Given the description of an element on the screen output the (x, y) to click on. 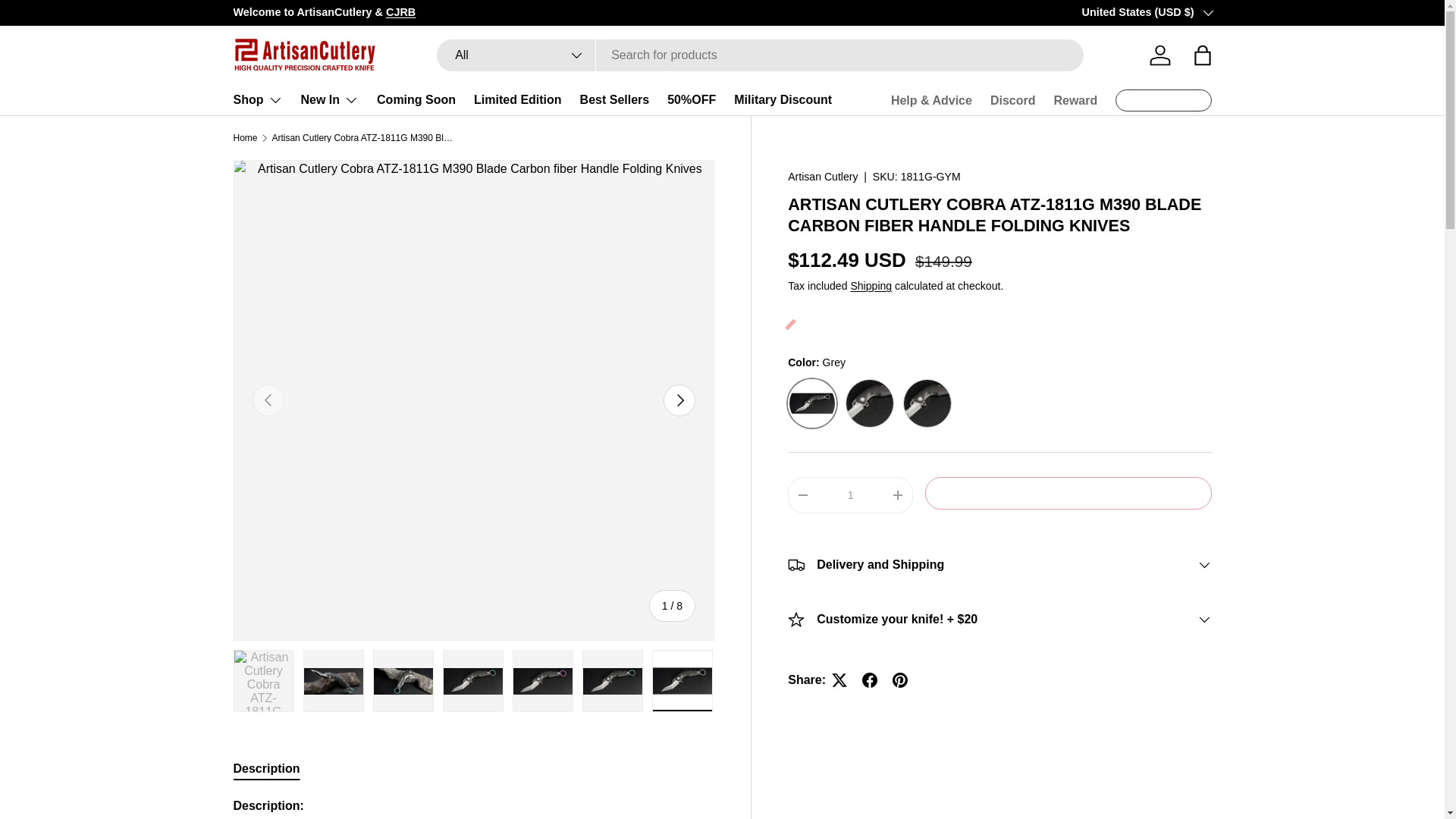
All (515, 55)
Description (473, 768)
SKIP TO CONTENT (68, 21)
Tweet on X (839, 680)
New In (328, 100)
Log in (1159, 55)
Pin on Pinterest (900, 680)
Share on Facebook (869, 680)
CJRB (399, 11)
1 (849, 495)
